Given the description of an element on the screen output the (x, y) to click on. 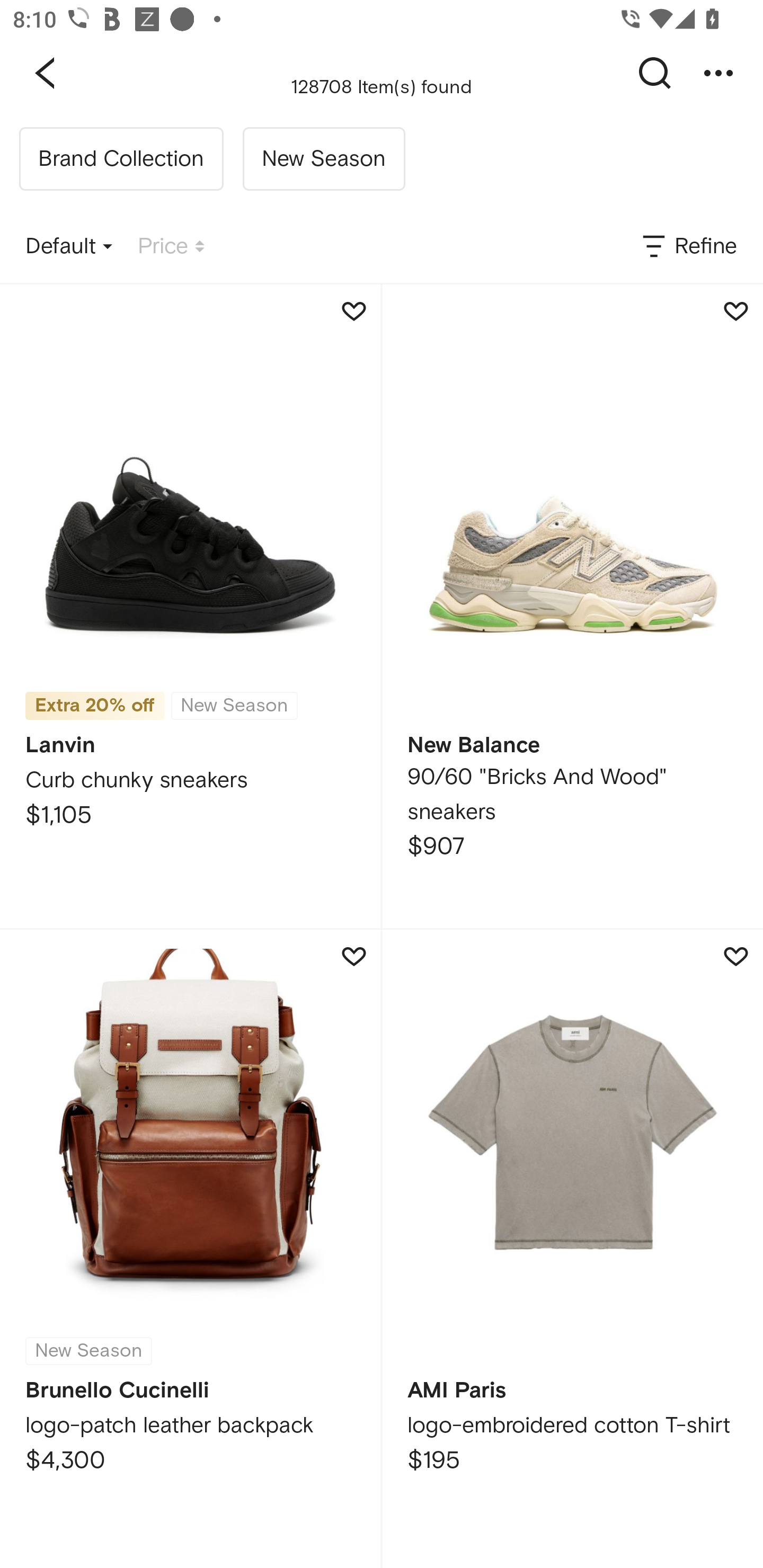
Brand Collection (121, 158)
New Season (323, 158)
Default (68, 246)
Price (171, 246)
Refine (688, 246)
New Balance 90/60 "Bricks And Wood" sneakers $907 (572, 605)
Extra 20% off (94, 705)
AMI Paris logo-embroidered cotton T-shirt  $195 (572, 1248)
